Given the description of an element on the screen output the (x, y) to click on. 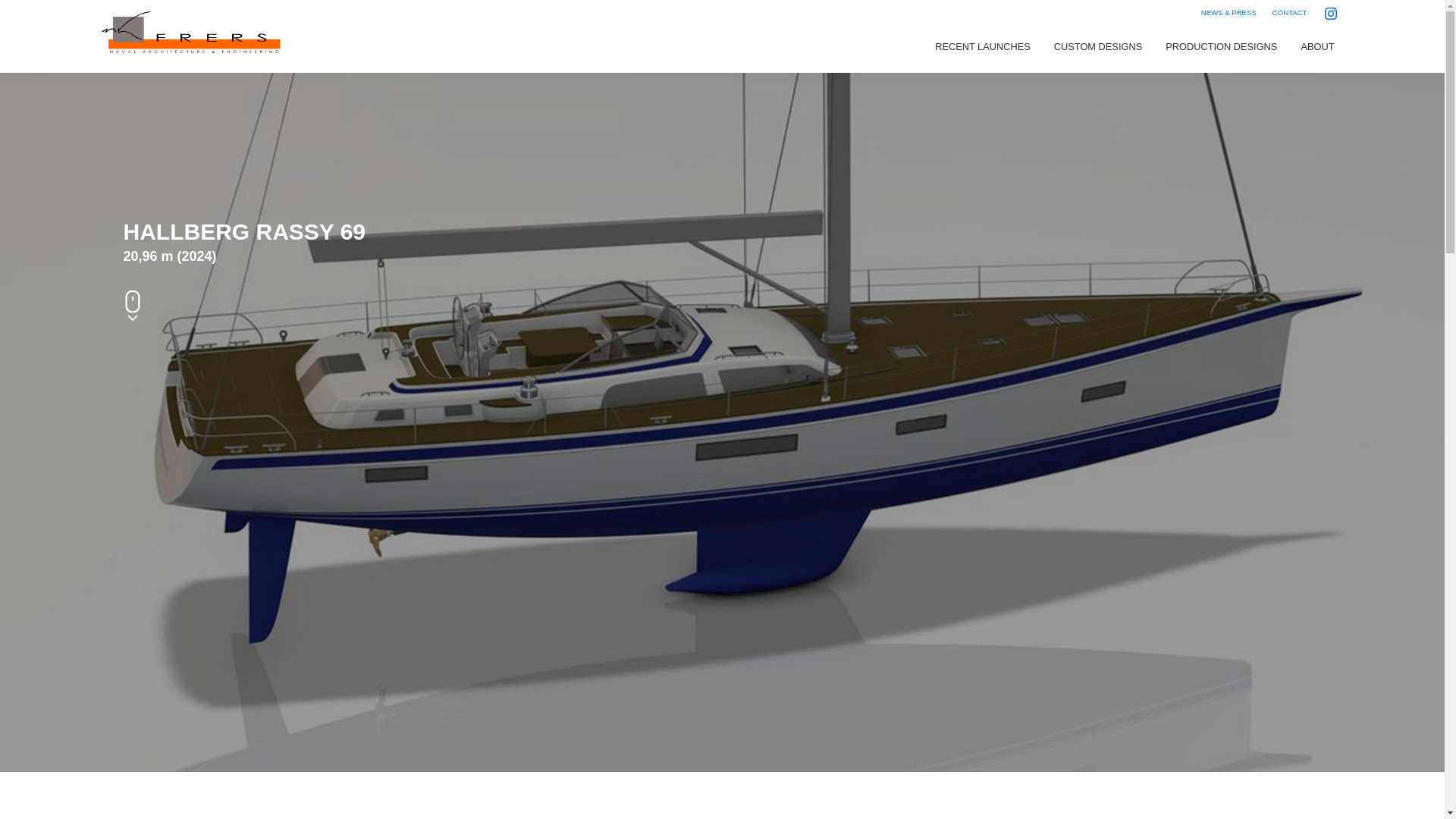
CUSTOM DESIGNS (1097, 47)
ABOUT (1316, 47)
PRODUCTION DESIGNS (1221, 47)
RECENT LAUNCHES (982, 47)
PRODUCTION DESIGNS (1221, 47)
RECENT LAUNCHES (982, 47)
CONTACT (1289, 12)
CUSTOM DESIGNS (1097, 47)
ABOUT (1316, 47)
